Given the description of an element on the screen output the (x, y) to click on. 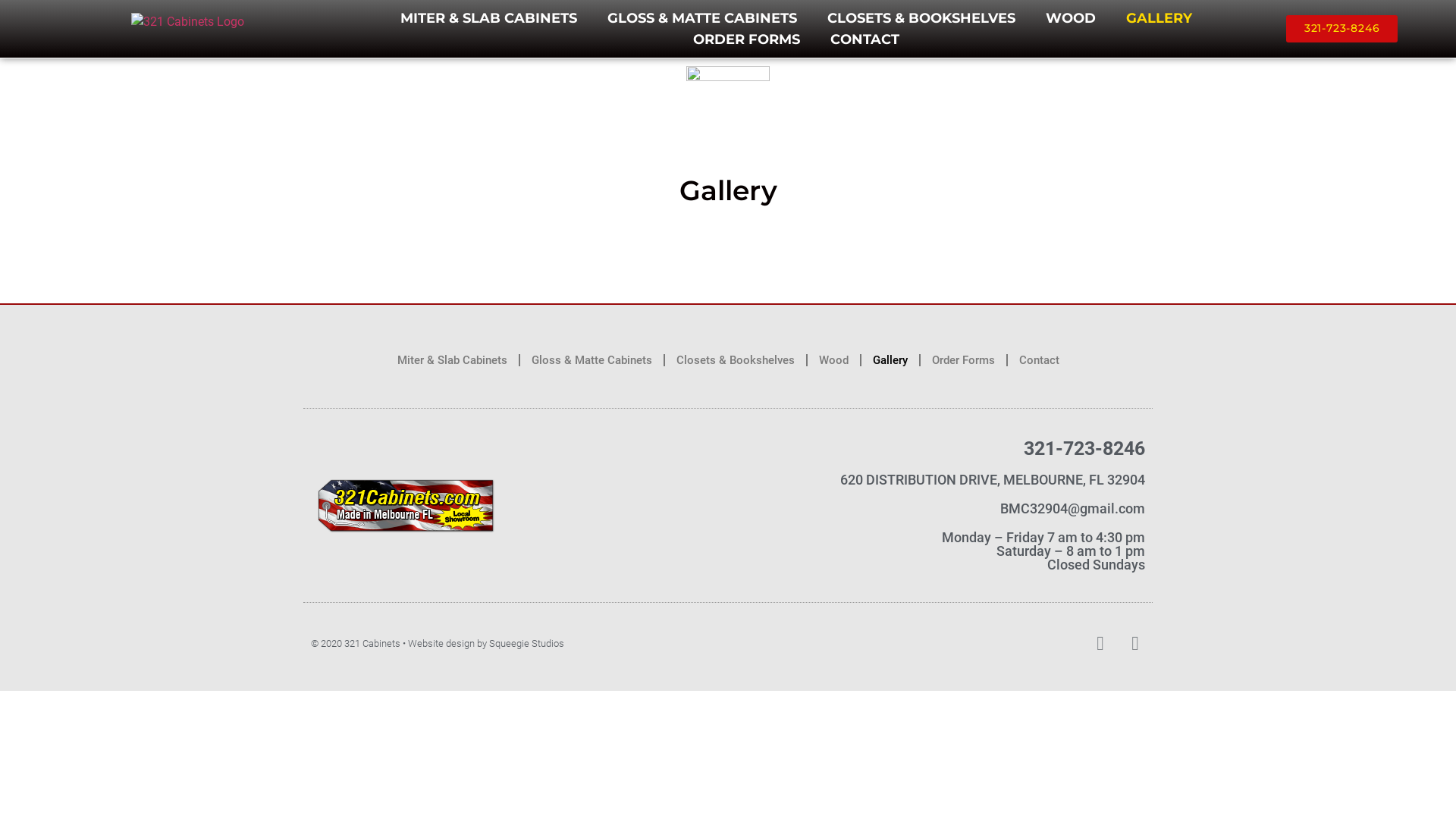
ORDER FORMS Element type: text (746, 39)
321-723-8246 Element type: text (1084, 448)
Miter & Slab Cabinets Element type: text (452, 359)
Closets & Bookshelves Element type: text (735, 359)
Contact Element type: text (1039, 359)
CONTACT Element type: text (864, 39)
GLOSS & MATTE CABINETS Element type: text (702, 17)
Gloss & Matte Cabinets Element type: text (590, 359)
BMC32904@gmail.com Element type: text (1072, 508)
CLOSETS & BOOKSHELVES Element type: text (921, 17)
GALLERY Element type: text (1158, 17)
Wood Element type: text (833, 359)
Order Forms Element type: text (962, 359)
WOOD Element type: text (1070, 17)
321-723-8246 Element type: text (1342, 28)
620 DISTRIBUTION DRIVE, MELBOURNE, FL 32904 Element type: text (992, 479)
MITER & SLAB CABINETS Element type: text (488, 17)
Squeegie Studios Element type: text (526, 642)
Gallery Element type: text (889, 359)
